Given the description of an element on the screen output the (x, y) to click on. 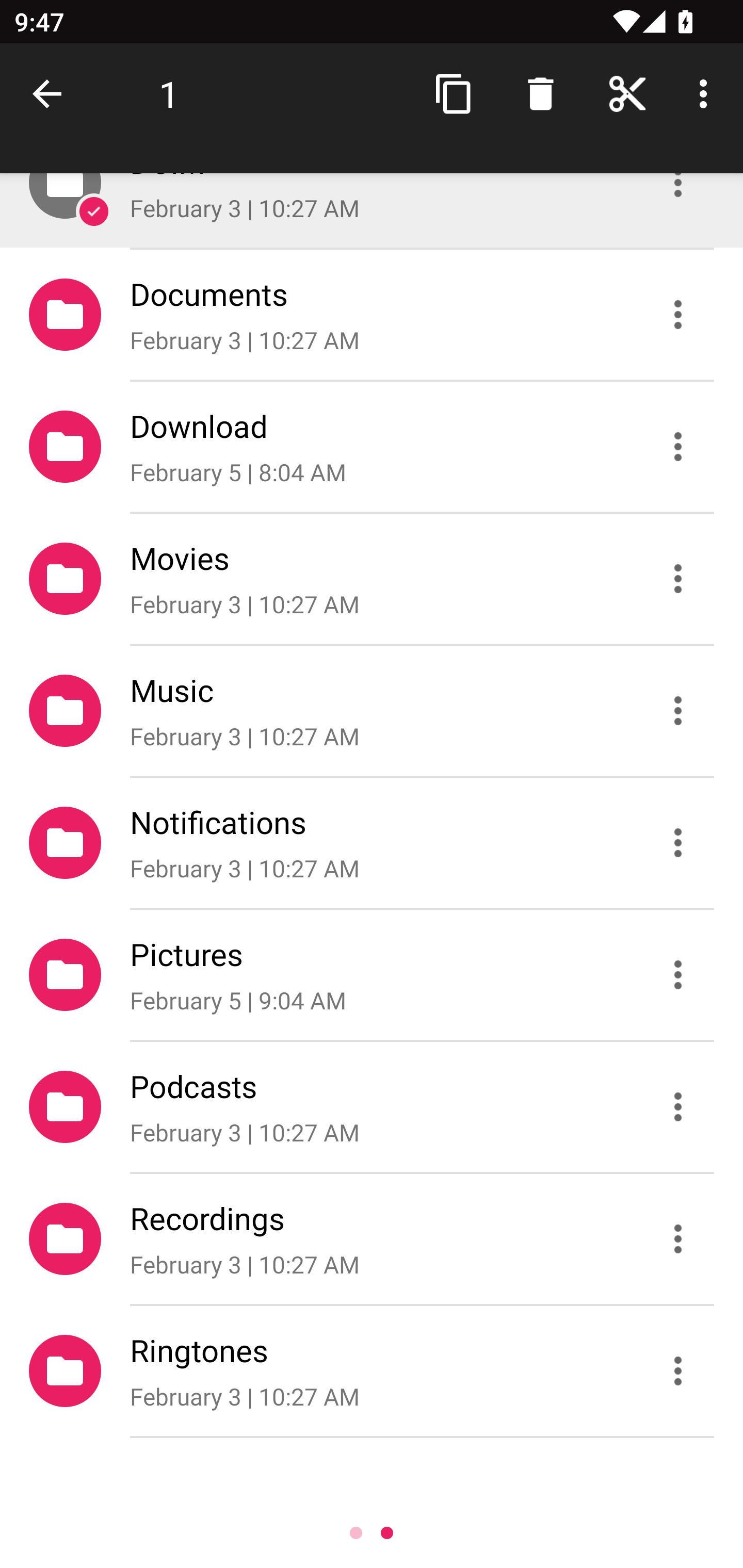
1 (169, 93)
Done (50, 93)
Copy (453, 93)
Delete (540, 93)
Cut (626, 93)
More options (706, 93)
DCIM February 3 | 10:27 AM (371, 210)
Documents February 3 | 10:27 AM (371, 314)
Download February 5 | 8:04 AM (371, 446)
Movies February 3 | 10:27 AM (371, 579)
Music February 3 | 10:27 AM (371, 711)
Notifications February 3 | 10:27 AM (371, 842)
Pictures February 5 | 9:04 AM (371, 974)
Podcasts February 3 | 10:27 AM (371, 1106)
Recordings February 3 | 10:27 AM (371, 1239)
Ringtones February 3 | 10:27 AM (371, 1371)
